Given the description of an element on the screen output the (x, y) to click on. 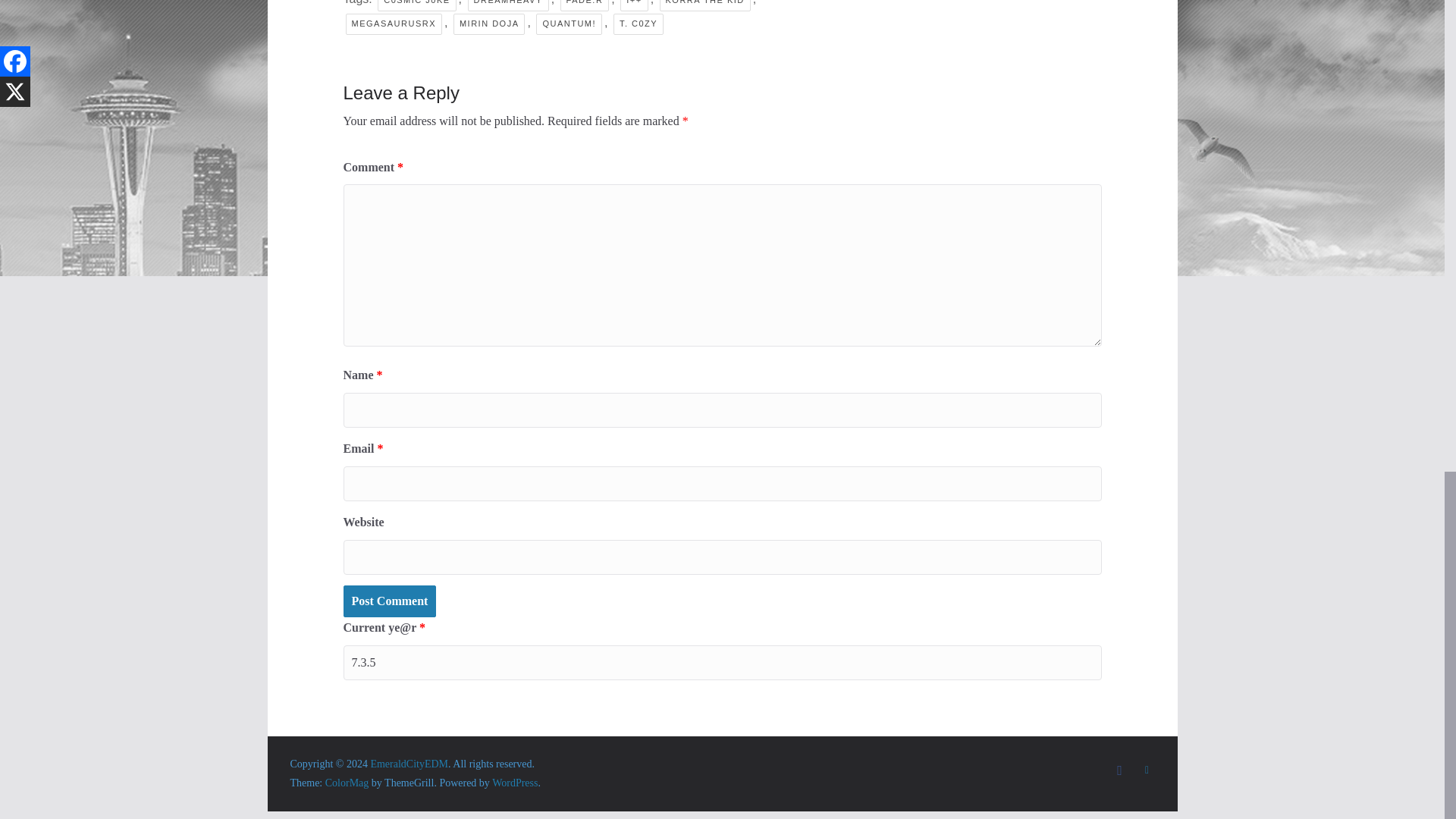
MEGASAURUSRX (394, 24)
ColorMag (346, 782)
T. C0ZY (637, 24)
Post Comment (388, 601)
7.3.5 (721, 662)
MIRIN DOJA (488, 24)
WordPress (514, 782)
FADE.R (585, 5)
C0SMIC J0KE (416, 5)
KORRA THE KID (705, 5)
